Given the description of an element on the screen output the (x, y) to click on. 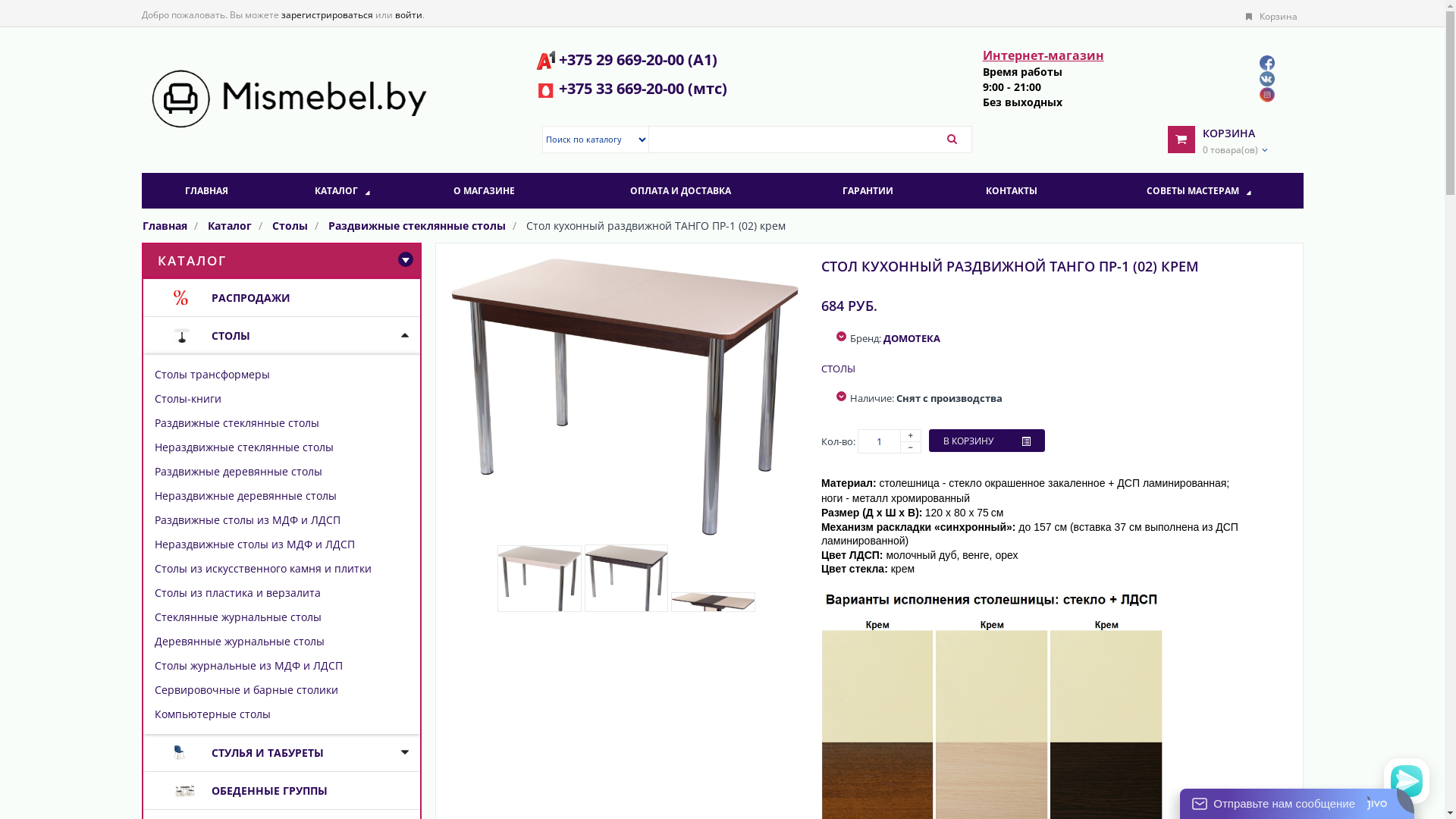
+375 29 669-20-00 Element type: text (621, 59)
+375 33 669-20-00  Element type: text (622, 88)
